Given the description of an element on the screen output the (x, y) to click on. 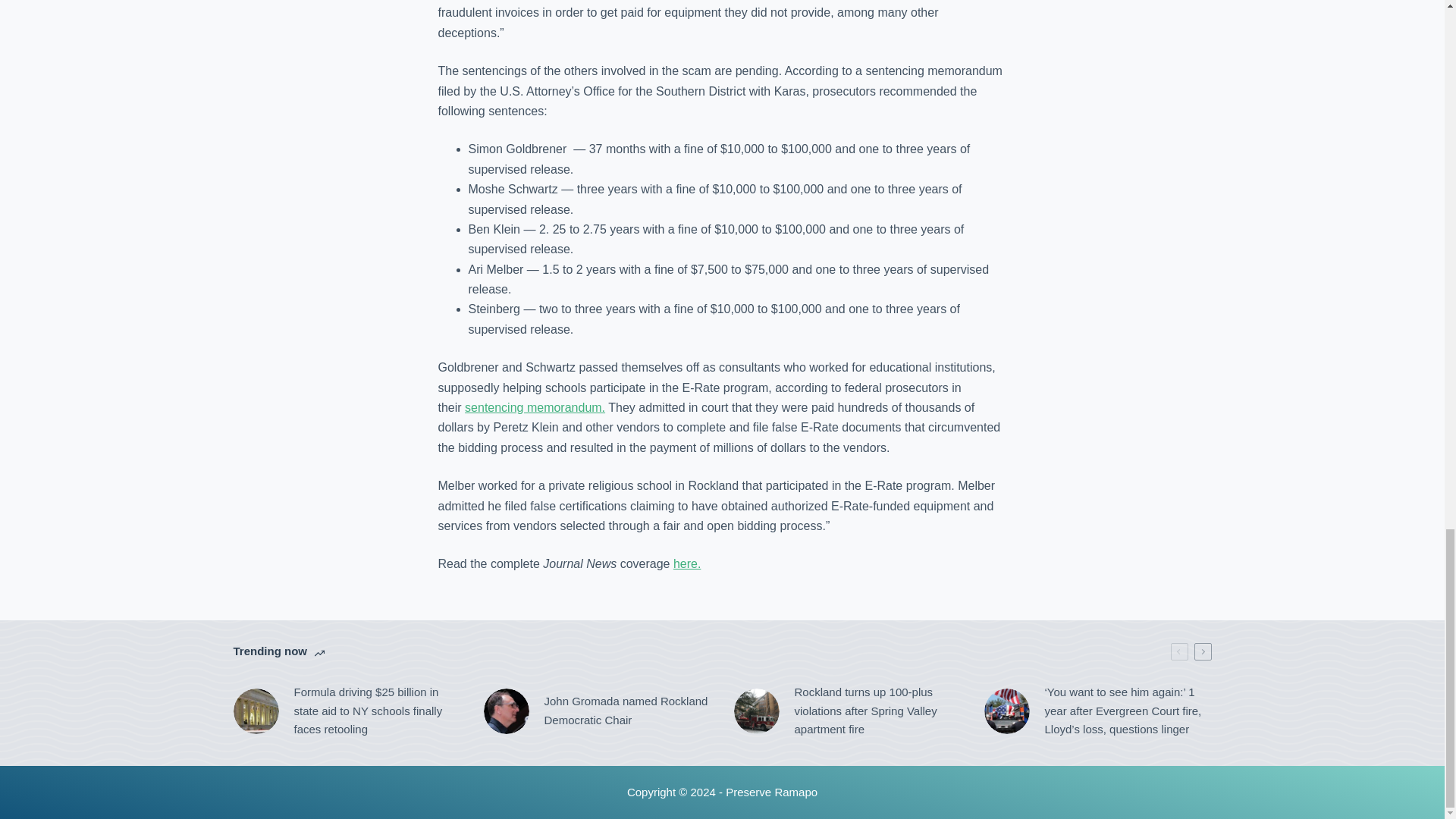
here. (686, 563)
sentencing memorandum. (534, 407)
John Gromada named Rockland Democratic Chair (597, 711)
